Given the description of an element on the screen output the (x, y) to click on. 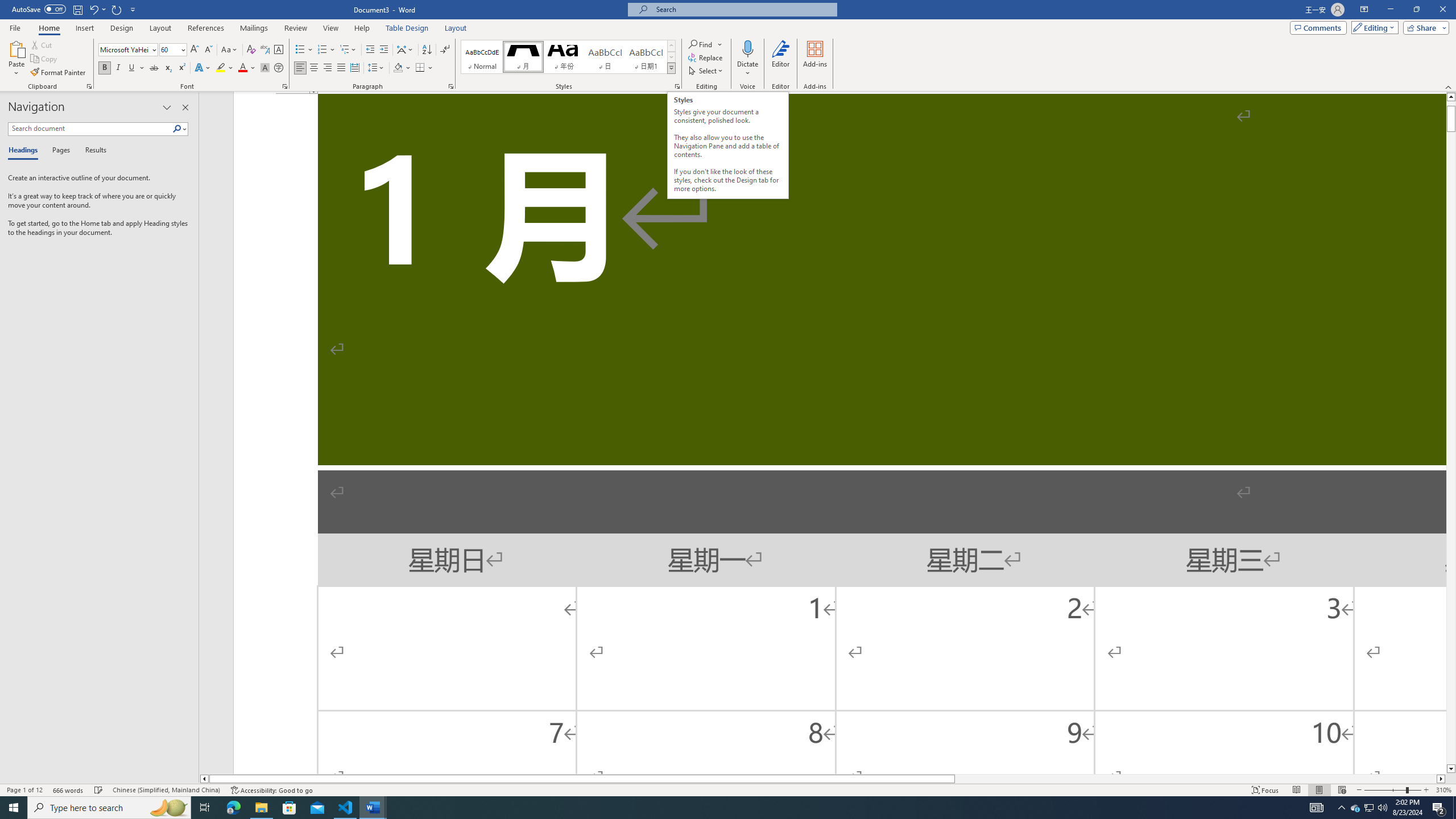
Zoom (1392, 790)
Insert (83, 28)
More Options (747, 68)
AutomationID: QuickStylesGallery (568, 56)
Find (700, 44)
Headings (25, 150)
Mode (1372, 27)
Search document (89, 128)
Bold (104, 67)
Strikethrough (154, 67)
Read Mode (1296, 790)
Comments (1318, 27)
Zoom Out (1385, 790)
Task Pane Options (167, 107)
